Given the description of an element on the screen output the (x, y) to click on. 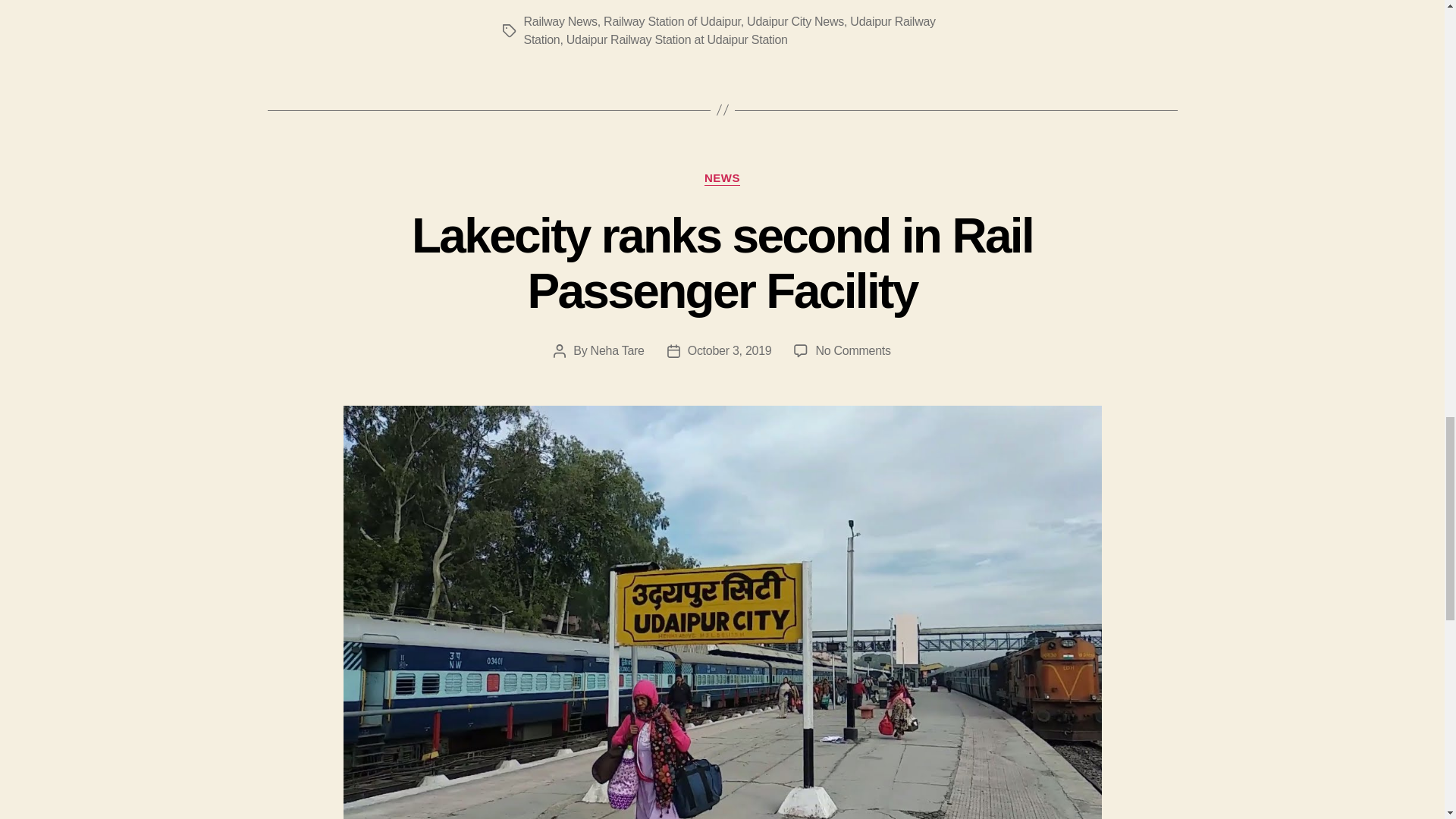
Udaipur Railway Station at Udaipur Station (676, 39)
NEWS (721, 178)
Railway Station of Udaipur (672, 21)
Lakecity ranks second in Rail Passenger Facility (722, 263)
Railway News (559, 21)
Udaipur City News (795, 21)
Neha Tare (618, 350)
Udaipur Railway Station (728, 30)
